Given the description of an element on the screen output the (x, y) to click on. 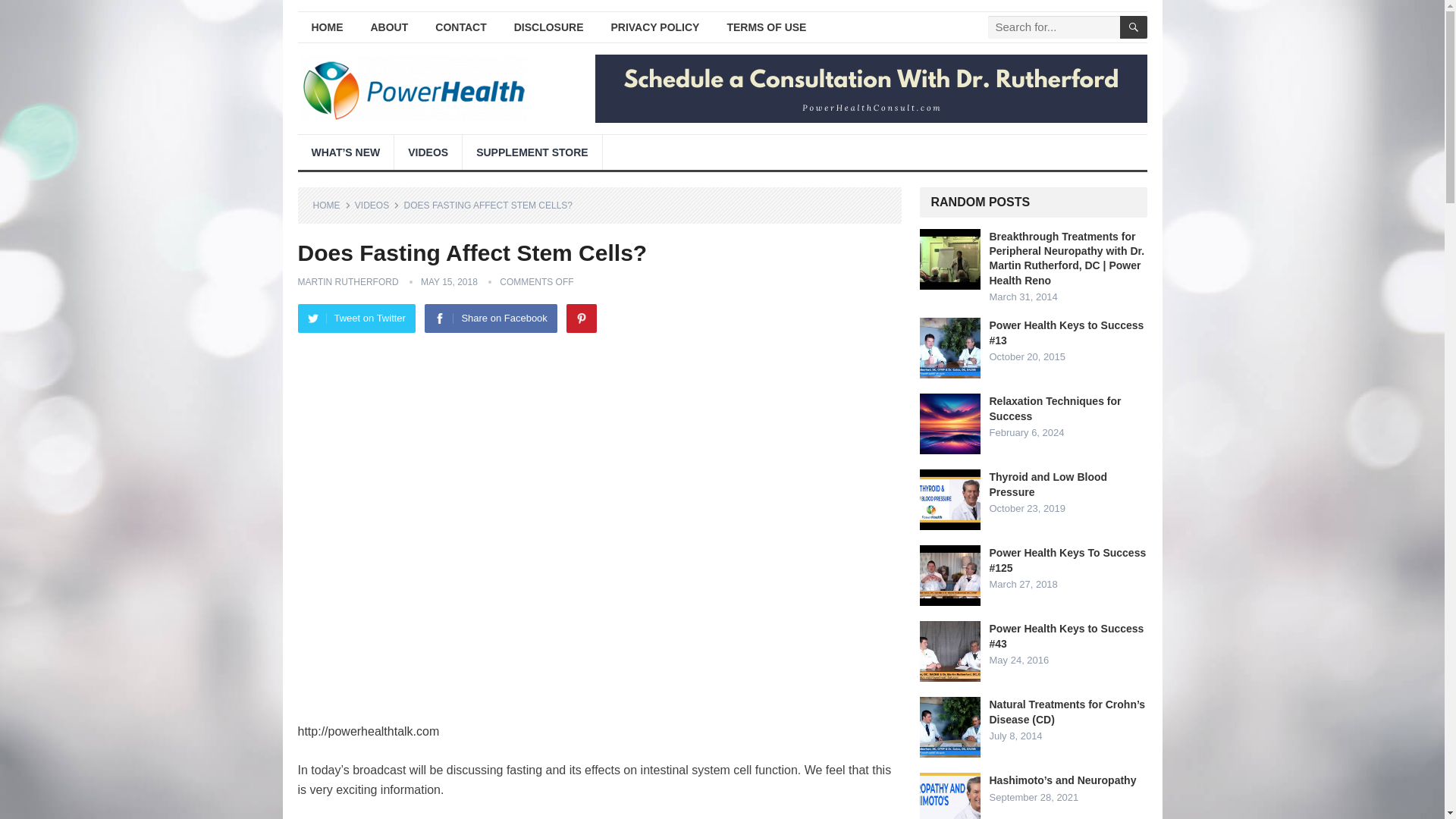
Posts by Martin Rutherford (347, 281)
PRIVACY POLICY (654, 27)
SUPPLEMENT STORE (532, 152)
View all posts in Videos (376, 204)
Pinterest (581, 317)
Tweet on Twitter (355, 317)
HOME (326, 27)
Thyroid and Low Blood Pressure 14 (948, 499)
TERMS OF USE (766, 27)
CONTACT (460, 27)
